Given the description of an element on the screen output the (x, y) to click on. 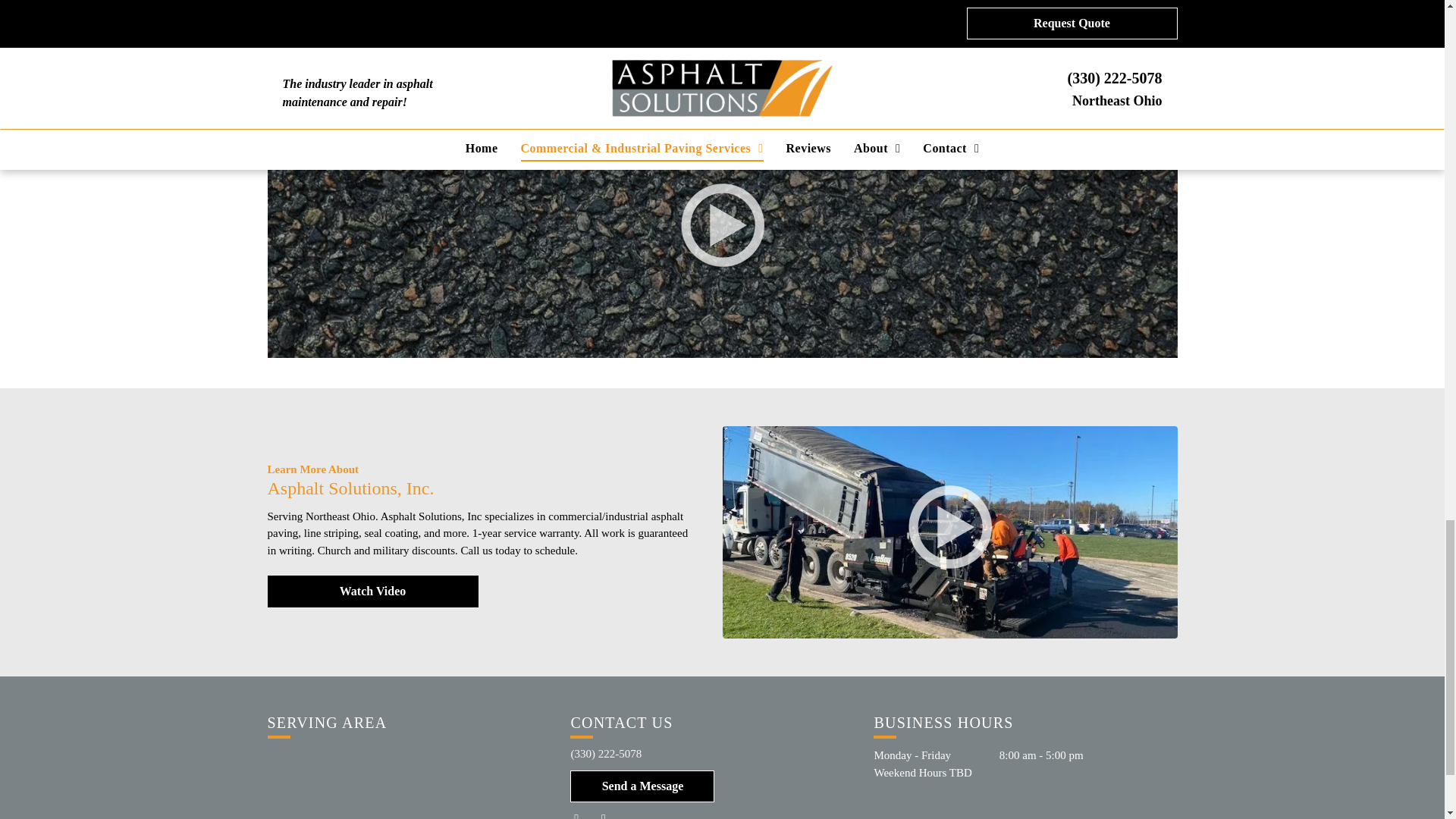
Watch Video (371, 591)
hibu-video-splash (949, 526)
Send a Message (642, 786)
video-splash-pop (722, 224)
